Given the description of an element on the screen output the (x, y) to click on. 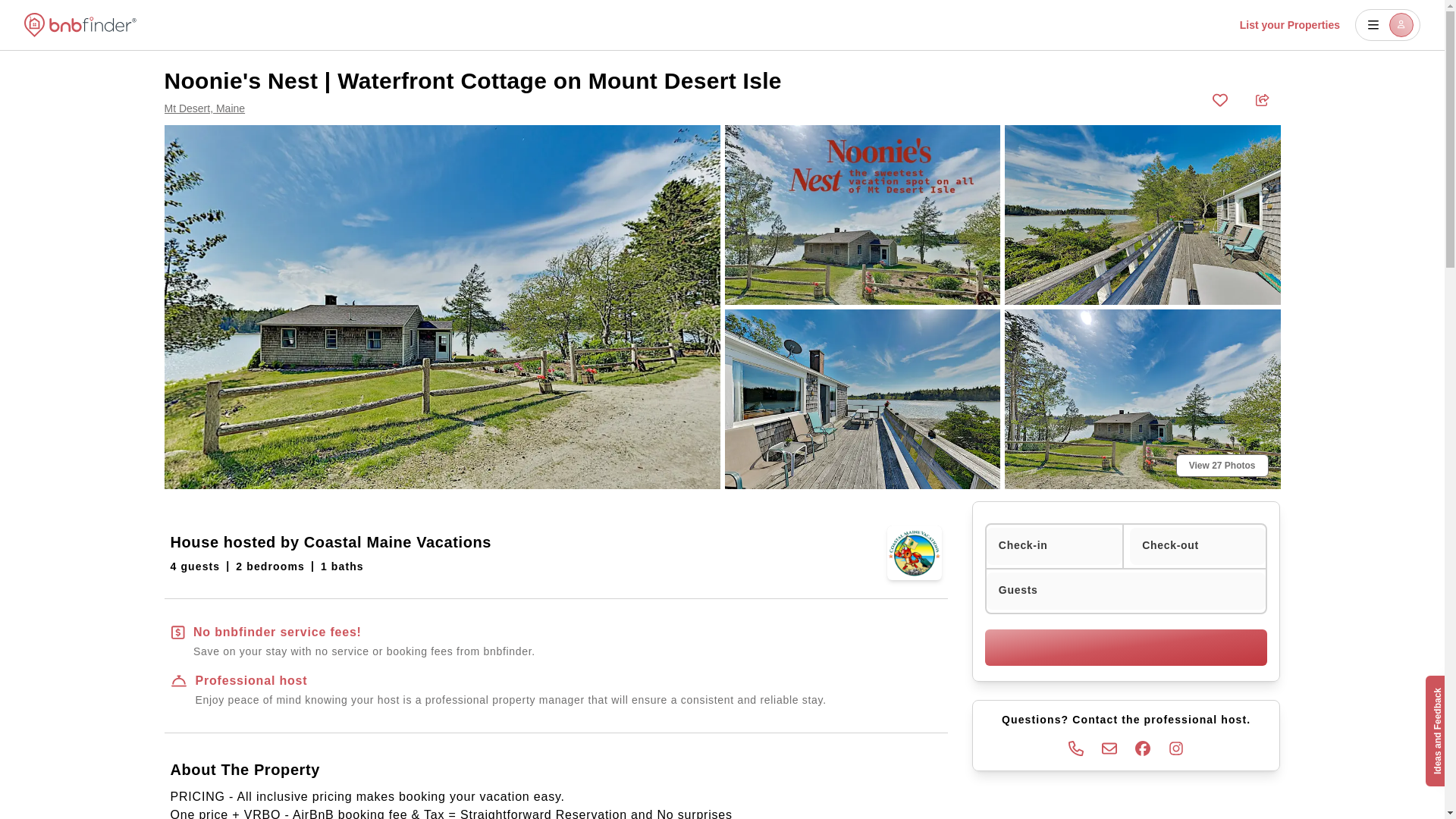
Open user menu (1388, 24)
View 27 Photos (1222, 465)
List your Properties (1289, 24)
